Given the description of an element on the screen output the (x, y) to click on. 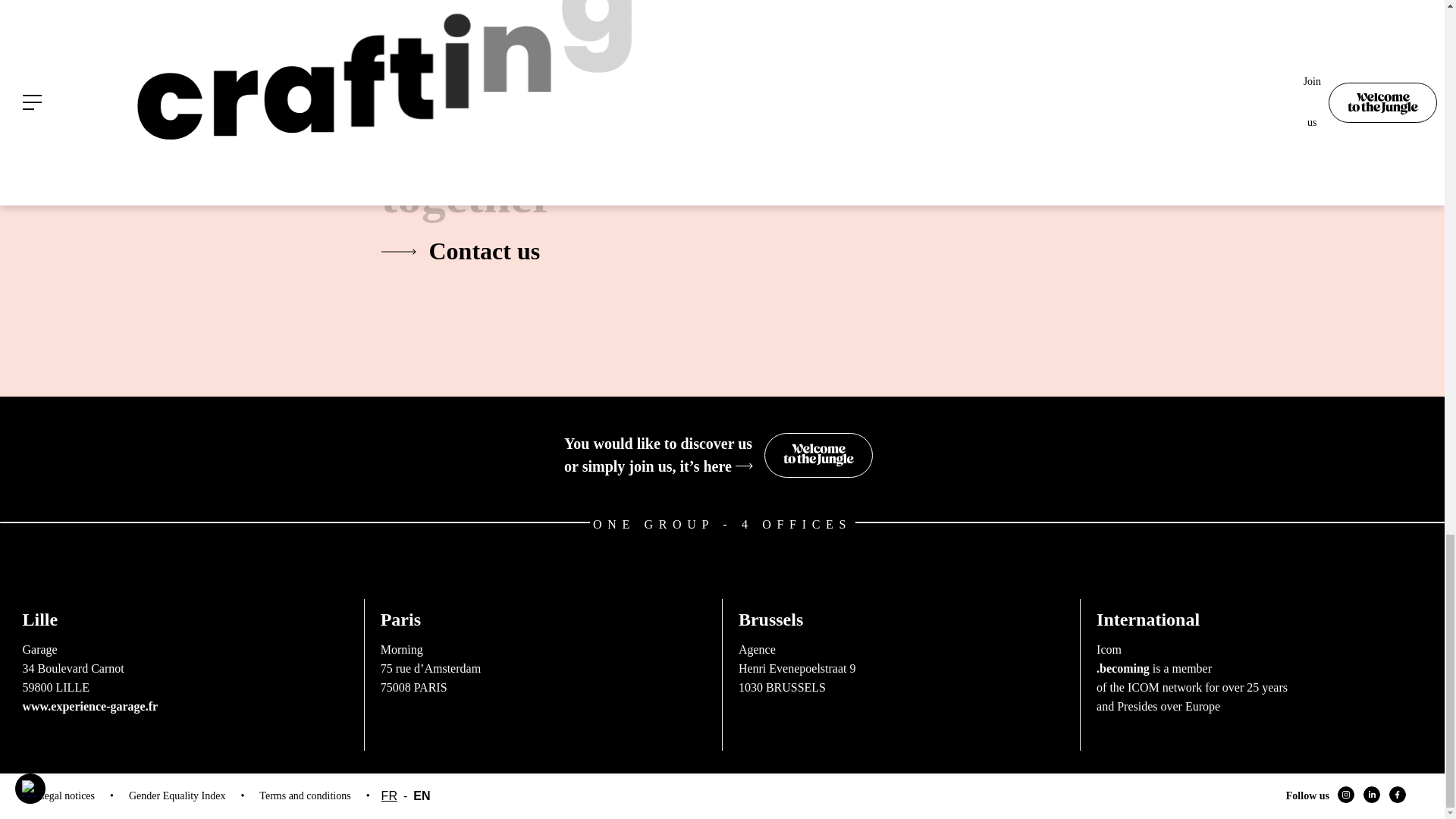
FR (901, 647)
